Given the description of an element on the screen output the (x, y) to click on. 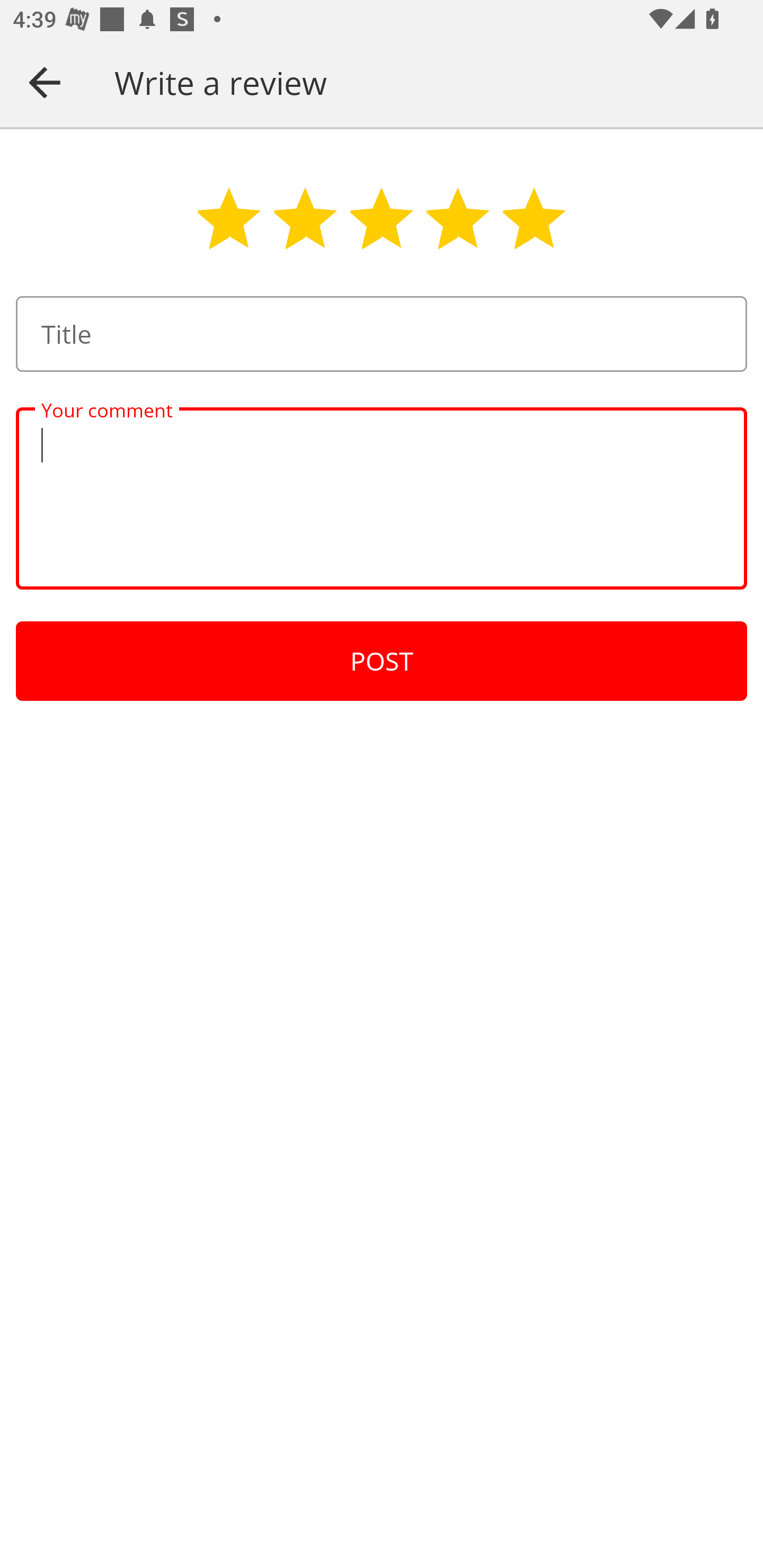
Navigate up (44, 82)
Title (381, 333)
Your comment (381, 498)
POST (381, 660)
